Given the description of an element on the screen output the (x, y) to click on. 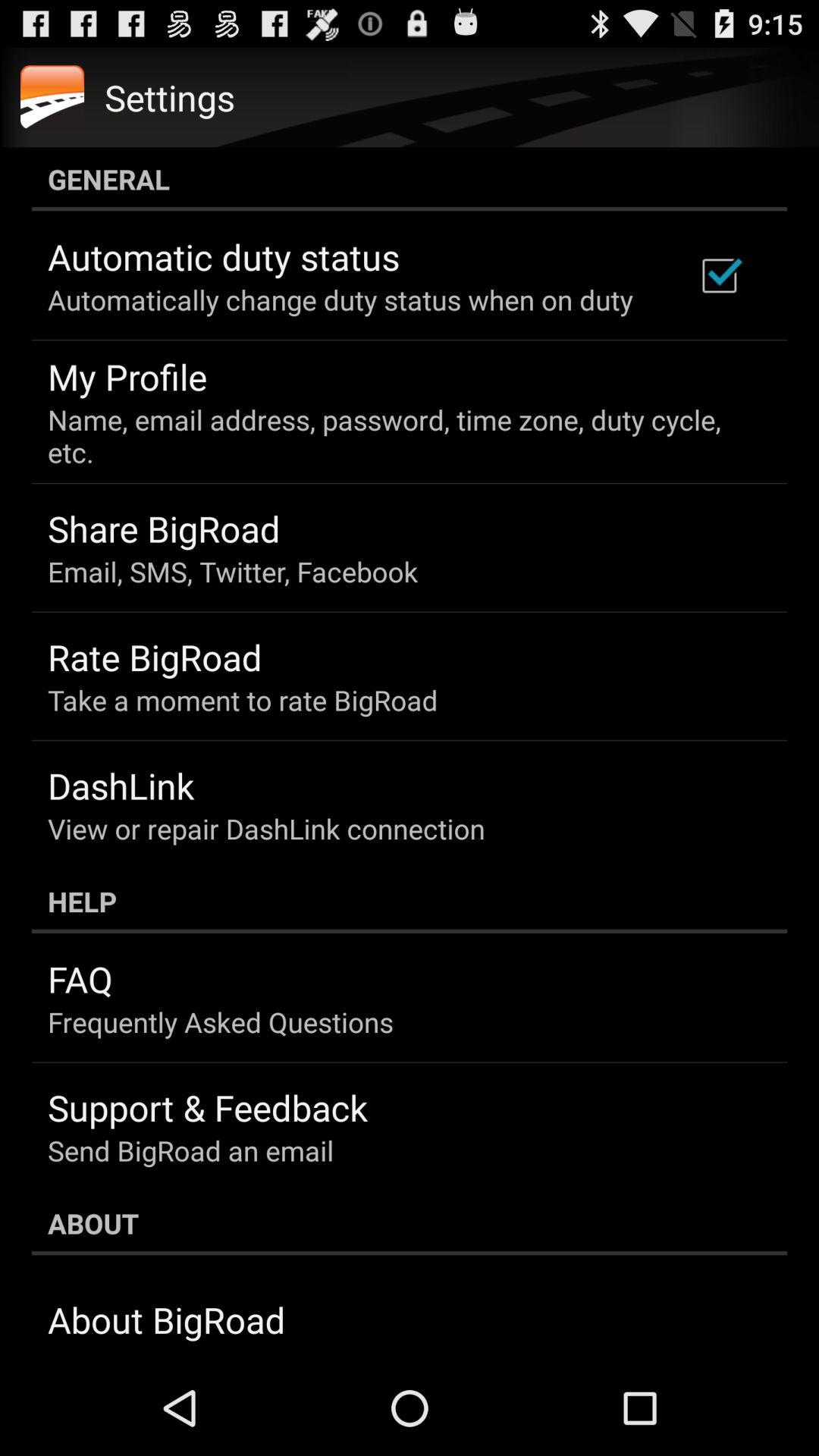
tap the icon above name email address (719, 275)
